Given the description of an element on the screen output the (x, y) to click on. 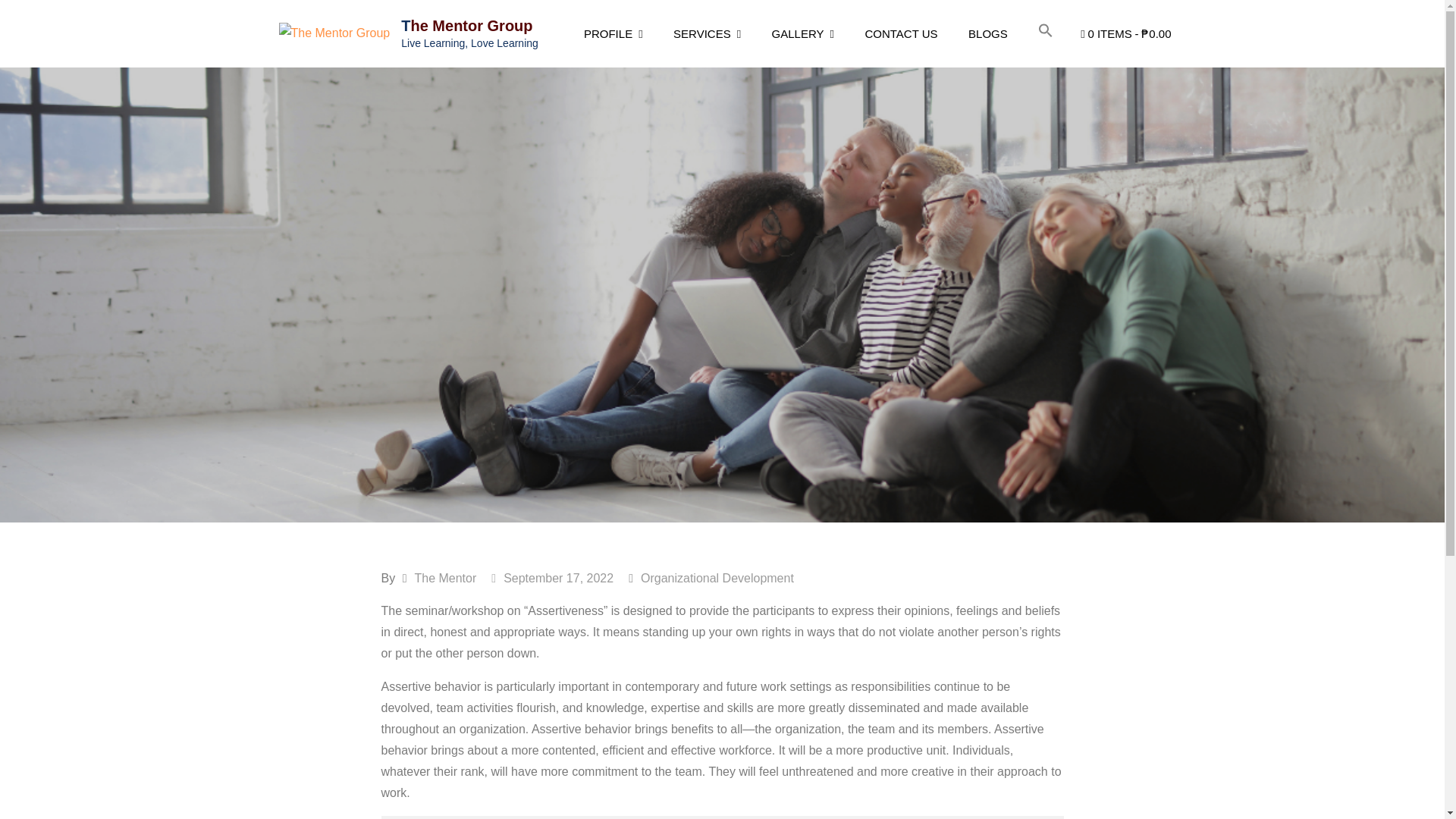
BLOGS (988, 33)
The Mentor Group (466, 24)
SERVICES (706, 33)
GALLERY (802, 33)
PROFILE (613, 33)
Start shopping (1126, 33)
The Mentor (444, 577)
Organizational Development (716, 577)
CONTACT US (900, 33)
September 17, 2022 (552, 577)
